Given the description of an element on the screen output the (x, y) to click on. 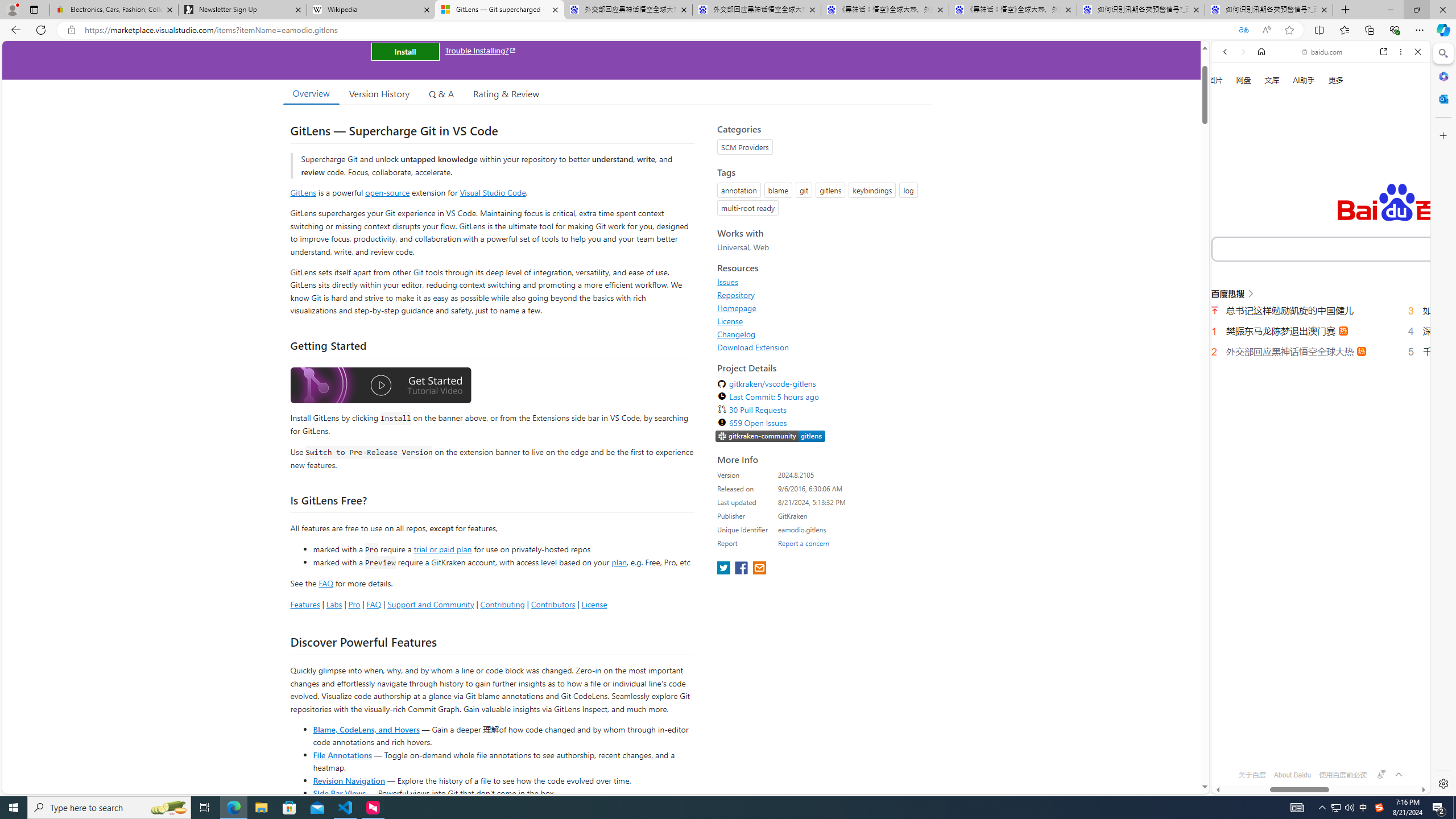
https://slack.gitkraken.com// (769, 436)
Newsletter Sign Up (242, 9)
Repository (735, 294)
License (820, 320)
